Given the description of an element on the screen output the (x, y) to click on. 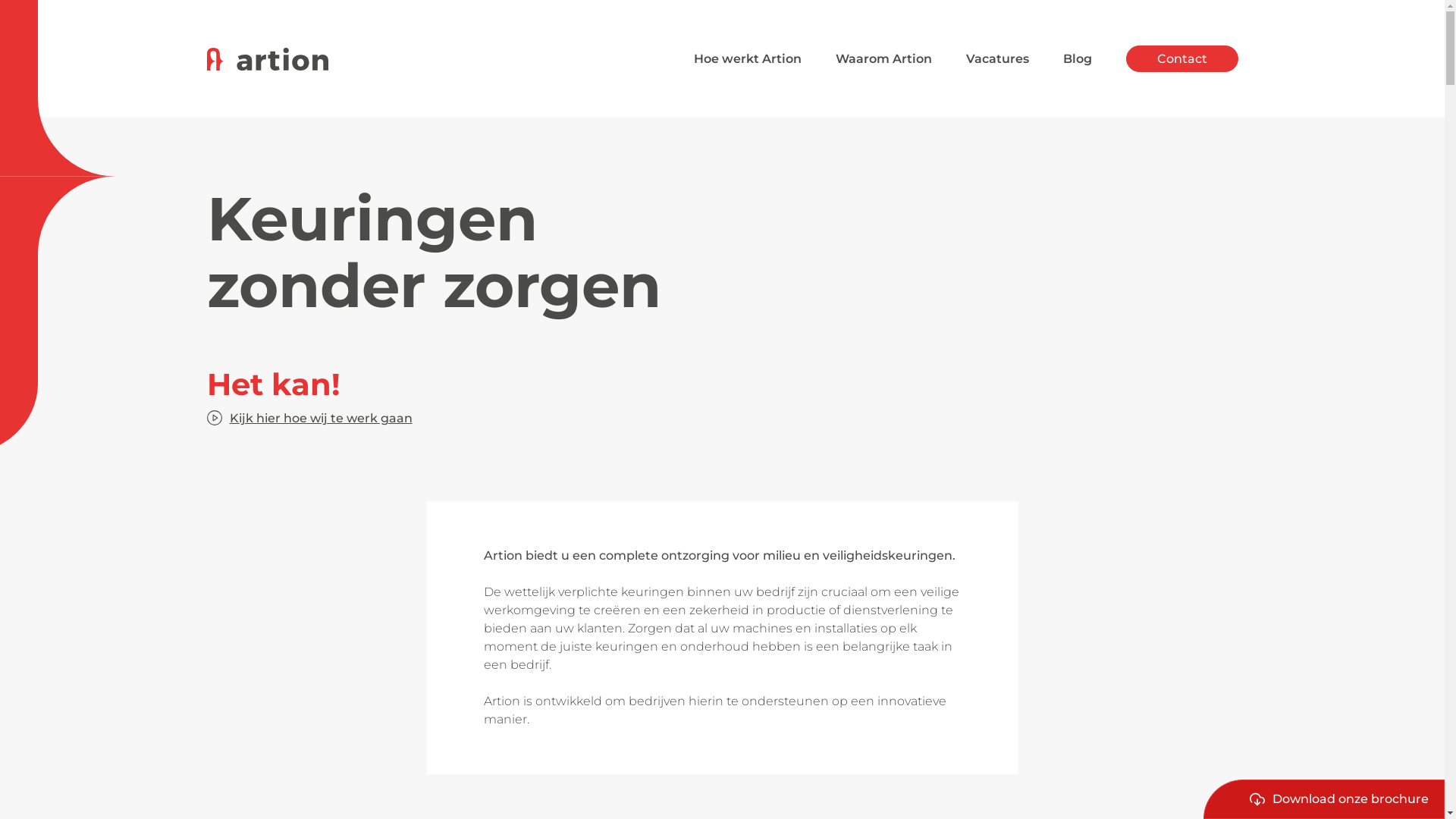
Contact Element type: text (1181, 58)
Blog Element type: text (1077, 58)
Waarom Artion Element type: text (883, 58)
Vacatures Element type: text (997, 58)
Kijk hier hoe wij te werk gaan Element type: text (308, 417)
Hoe werkt Artion Element type: text (746, 58)
Verzenden Element type: text (1167, 214)
